Given the description of an element on the screen output the (x, y) to click on. 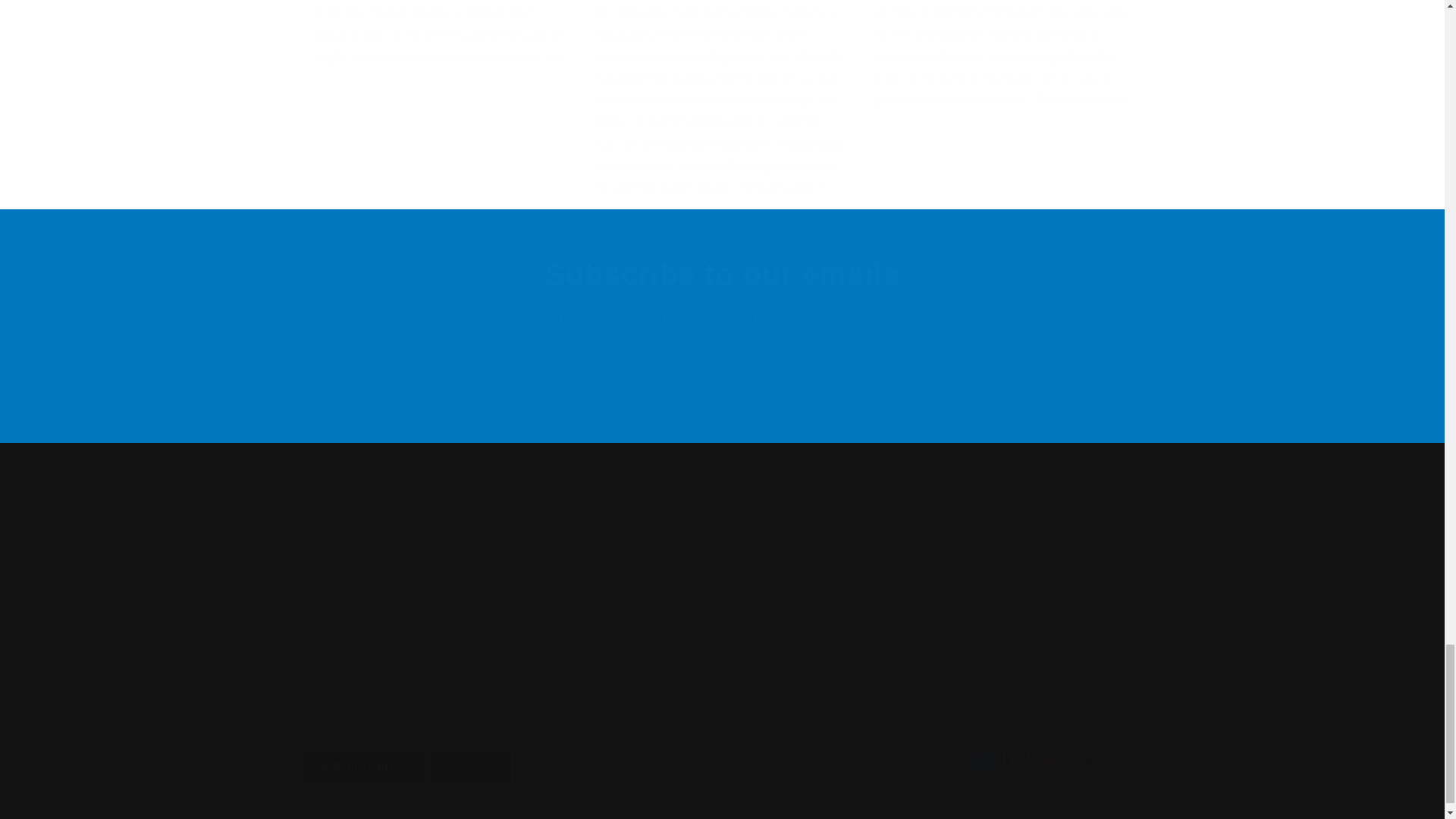
Email (617, 582)
Subscribe to our emails (722, 364)
